Given the description of an element on the screen output the (x, y) to click on. 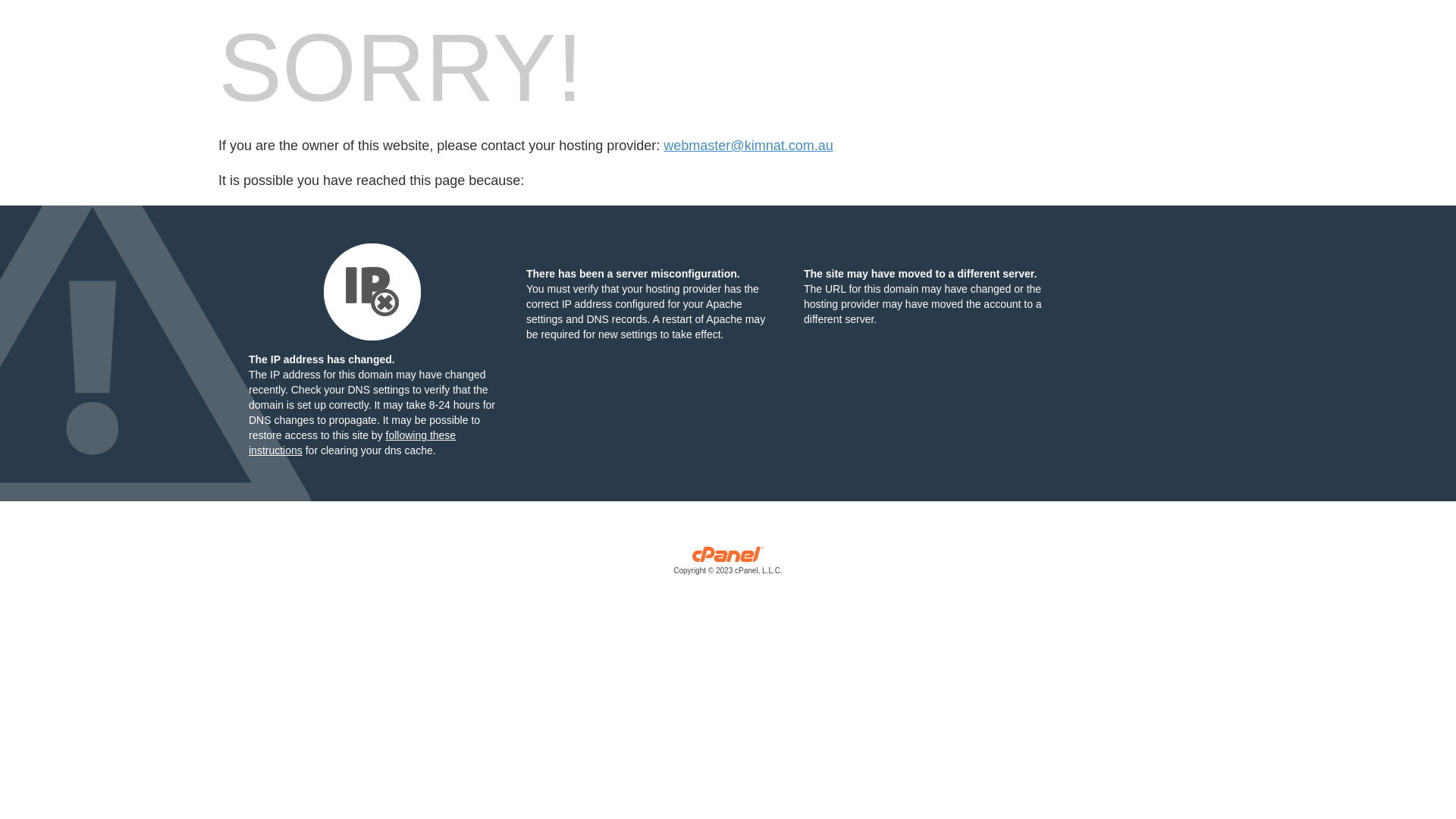
webmaster@kimnat.com.au Element type: text (747, 145)
following these instructions Element type: text (351, 442)
